Given the description of an element on the screen output the (x, y) to click on. 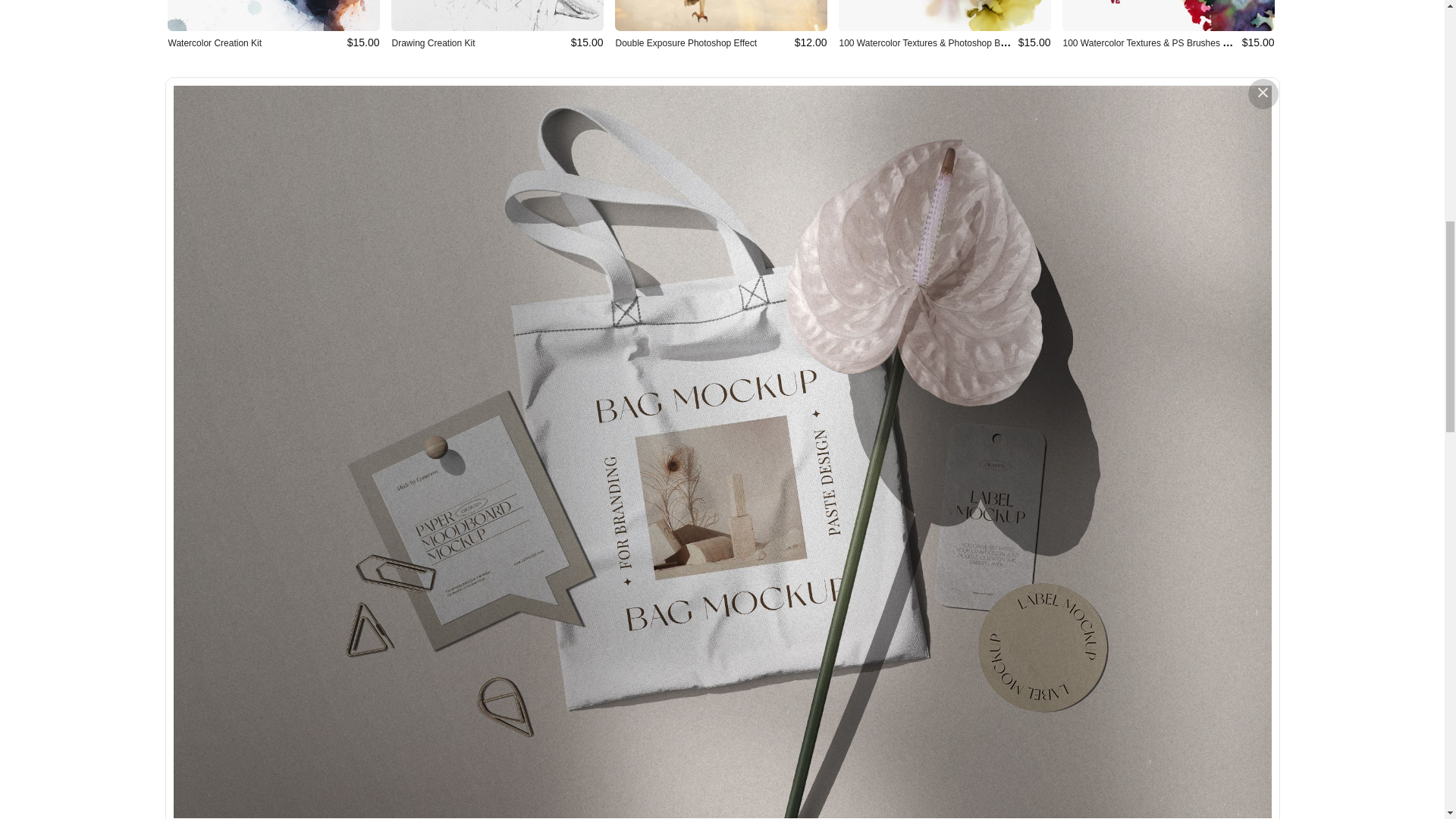
Drawing Creation Kit (432, 42)
Double Exposure Photoshop Effect (686, 42)
Watercolor Creation Kit (215, 42)
